Given the description of an element on the screen output the (x, y) to click on. 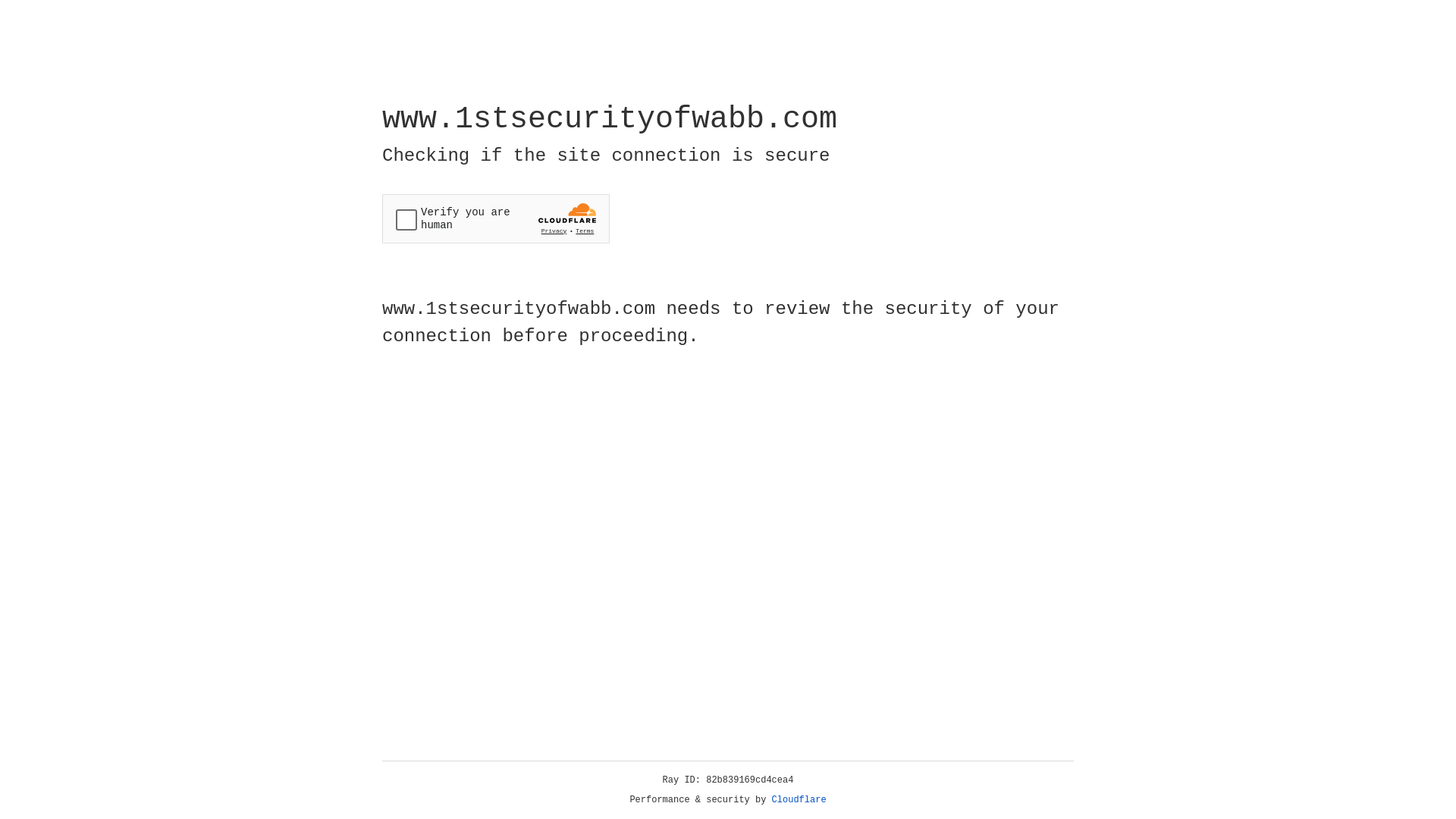
Widget containing a Cloudflare security challenge Element type: hover (495, 218)
Cloudflare Element type: text (798, 799)
